Given the description of an element on the screen output the (x, y) to click on. 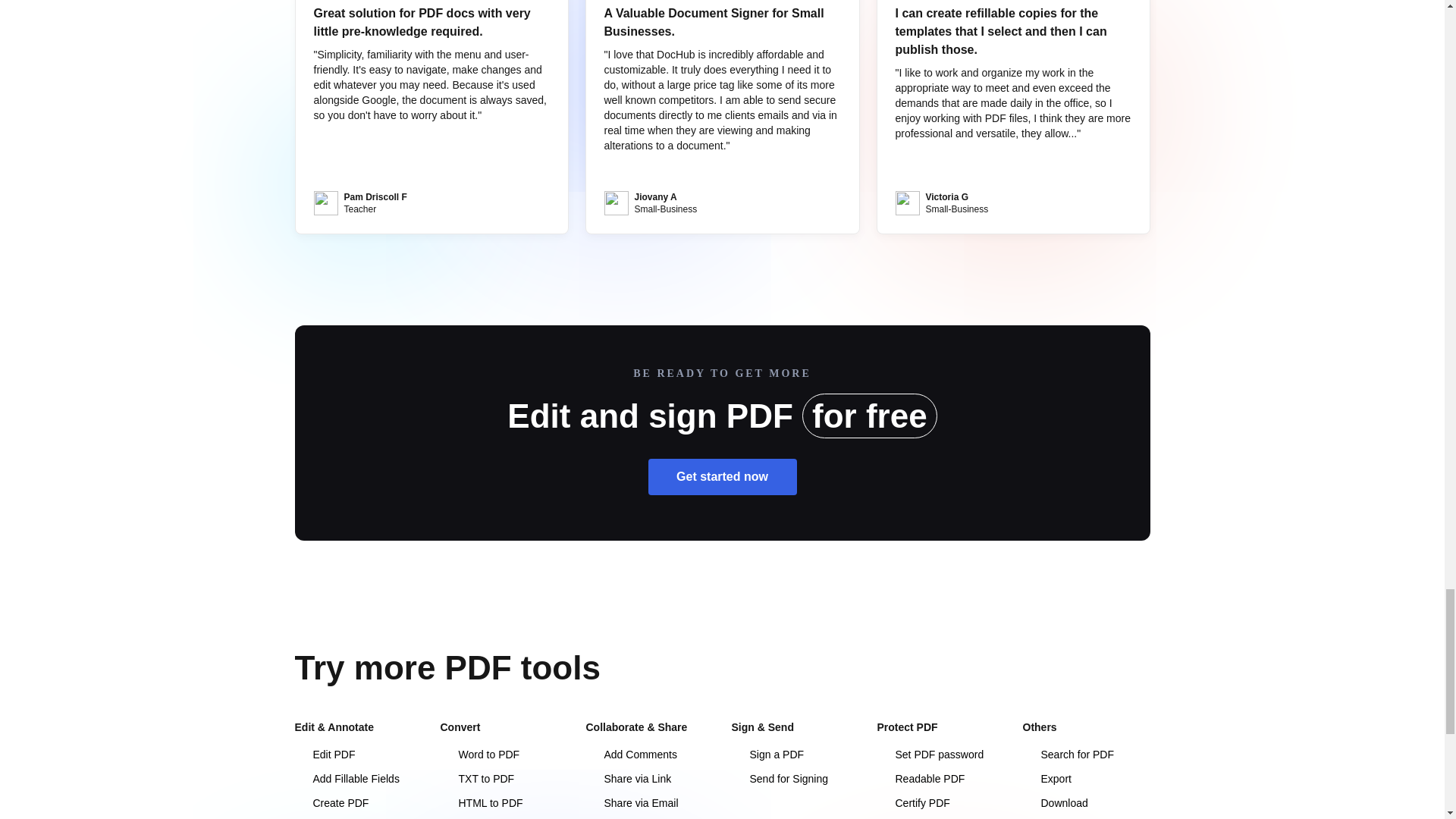
HTML to PDF (480, 802)
TXT to PDF (476, 778)
Sign a PDF (766, 754)
Edit PDF (324, 754)
Share via Email (631, 802)
Share via Link (628, 778)
Add Fillable Fields (346, 778)
Add Comments (631, 754)
Word to PDF (479, 754)
Get started now (721, 476)
Create PDF (331, 802)
